Given the description of an element on the screen output the (x, y) to click on. 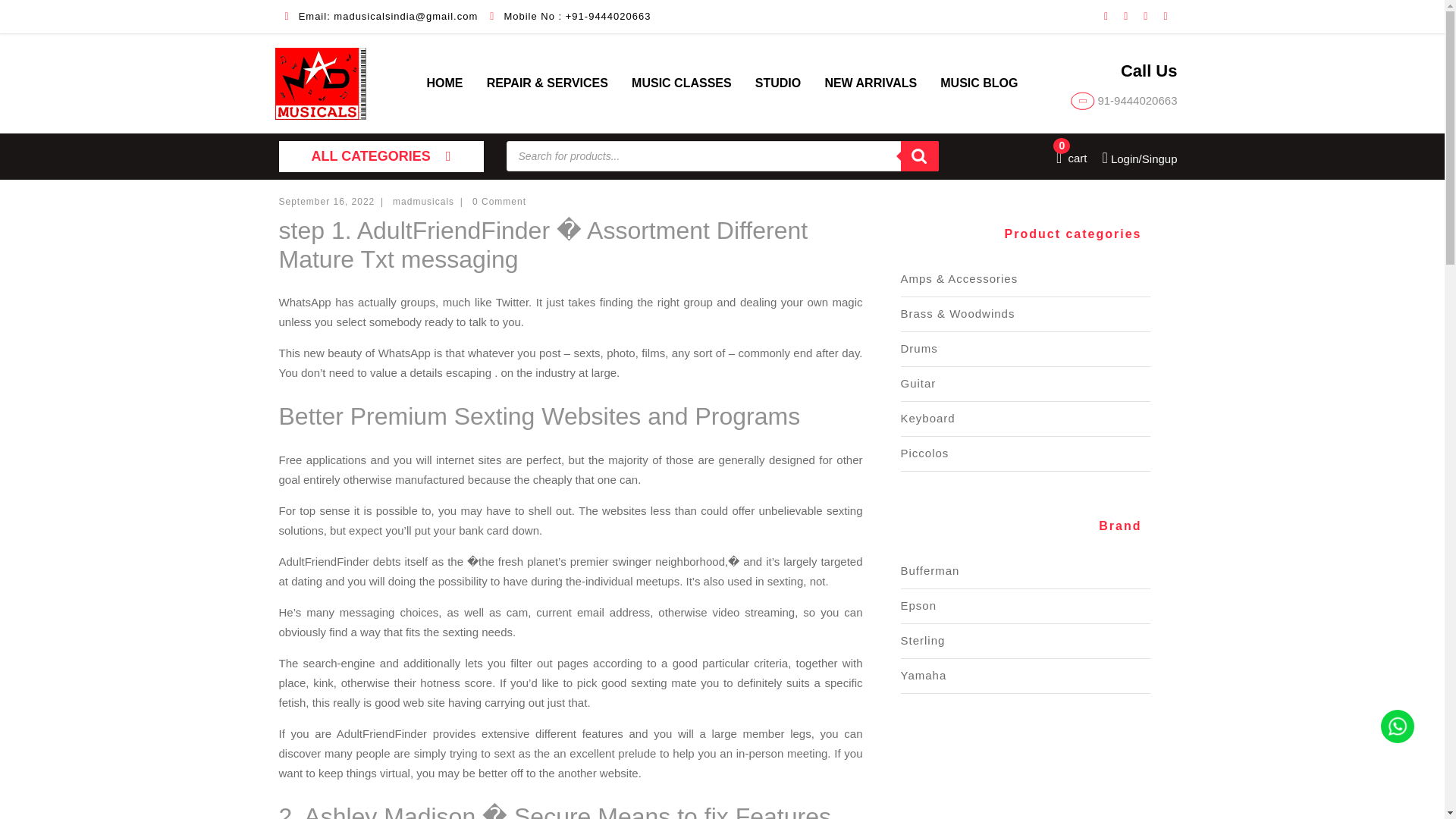
Bufferman (930, 570)
Piccolos (1073, 158)
MUSIC CLASSES (925, 452)
ALL CATEGORIES (681, 82)
Drums (381, 155)
NEW ARRIVALS (919, 348)
STUDIO (870, 82)
Keyboard (778, 82)
HOME (928, 418)
SEARCH (444, 82)
MUSIC BLOG (920, 155)
Guitar (979, 82)
91-9444020663 (918, 382)
